Given the description of an element on the screen output the (x, y) to click on. 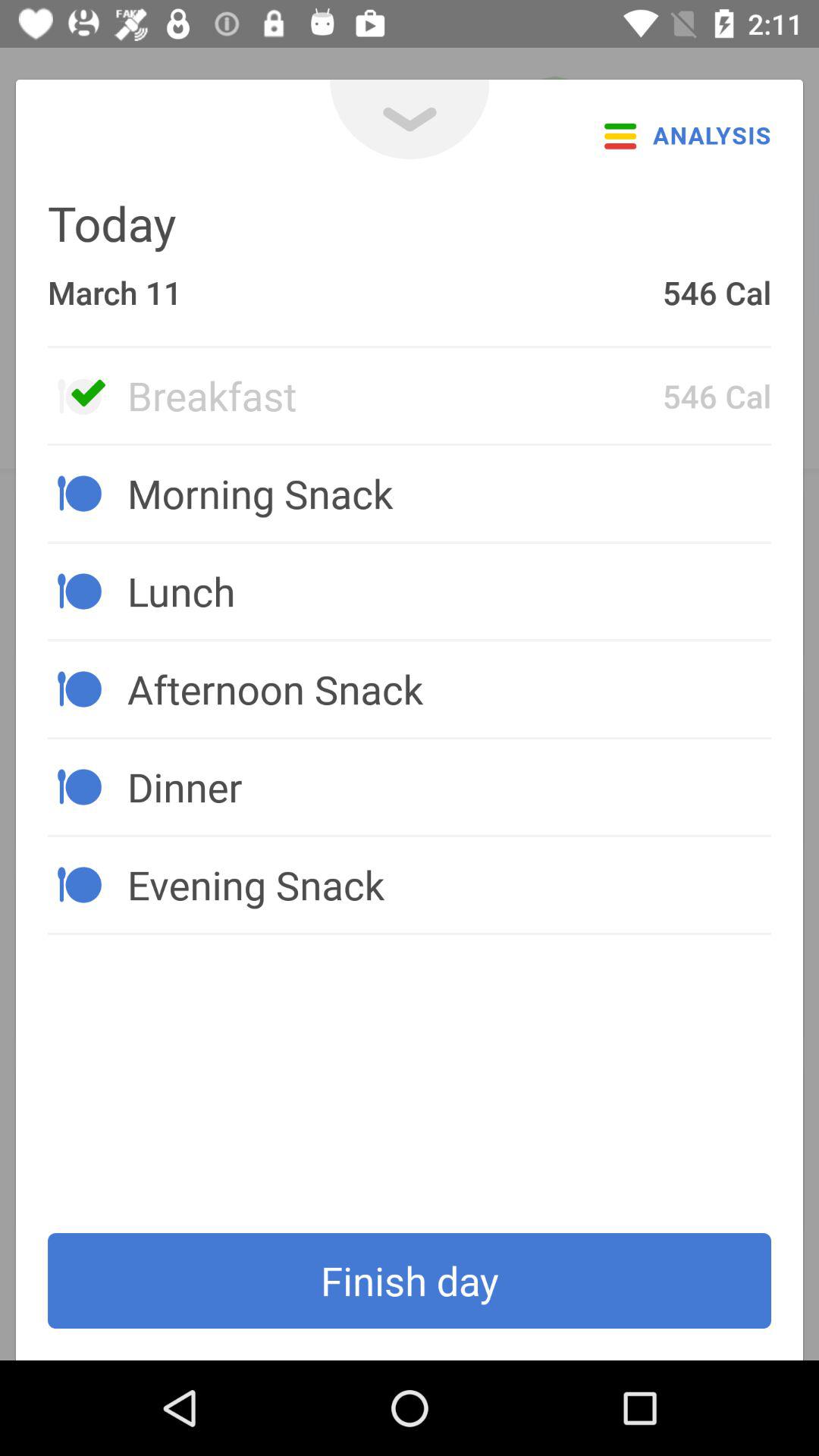
turn off the icon to the left of the analysis icon (409, 119)
